Given the description of an element on the screen output the (x, y) to click on. 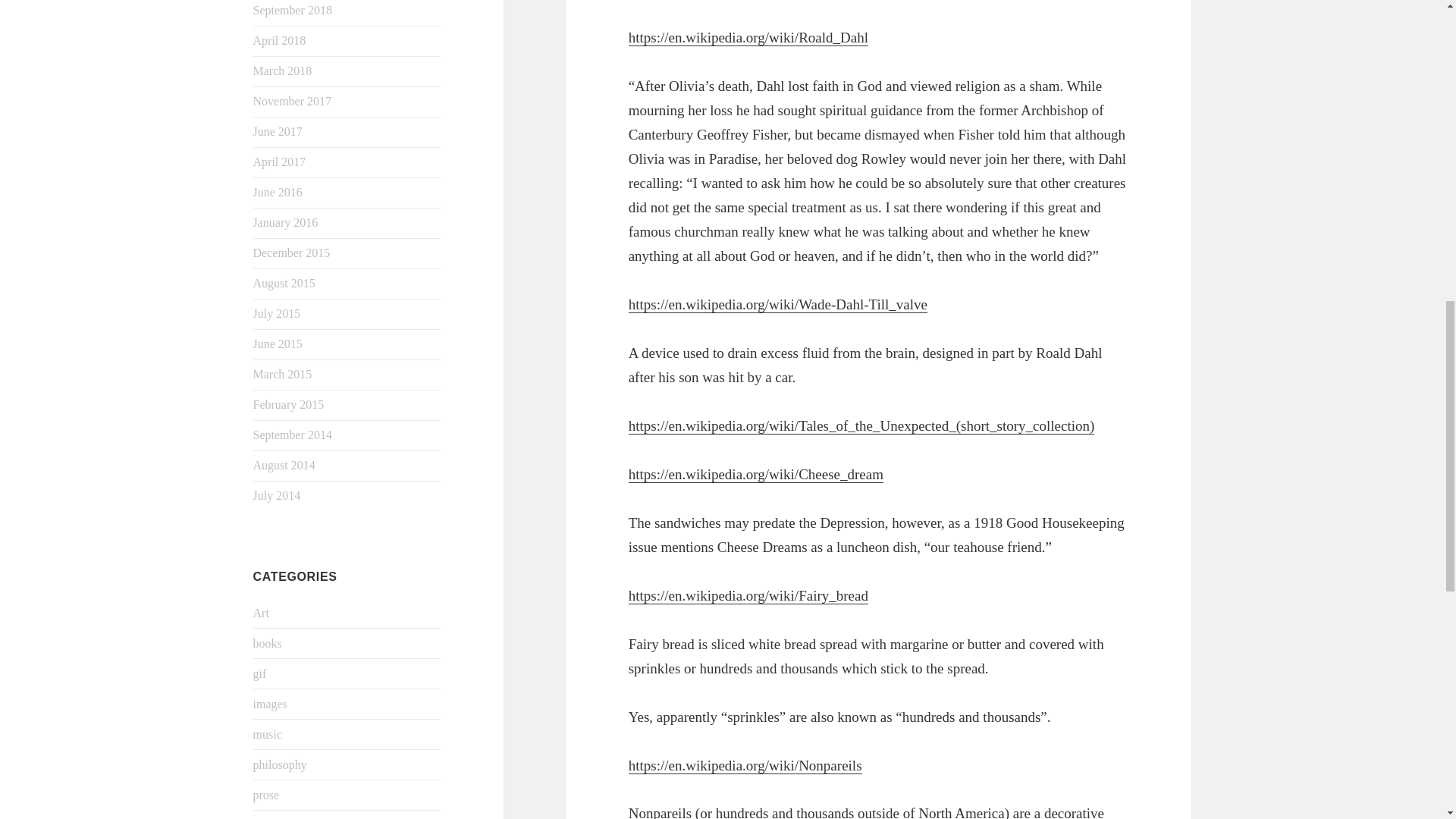
music (267, 734)
September 2018 (292, 10)
June 2015 (277, 343)
July 2015 (277, 313)
Art (261, 612)
June 2017 (277, 131)
March 2018 (283, 70)
images (269, 703)
July 2014 (277, 495)
September 2014 (292, 434)
